Given the description of an element on the screen output the (x, y) to click on. 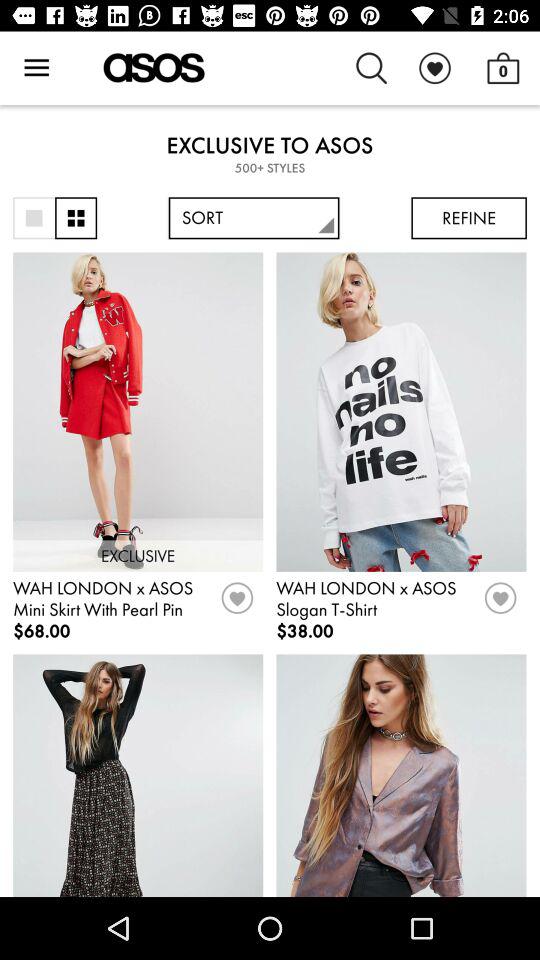
go to the first image in the second row (137, 774)
click on the bag button which is at the top right (503, 67)
click on the image which is above the text slogan tshirt (401, 411)
click on the heart symbol which is right side to the search icon (435, 68)
